Given the description of an element on the screen output the (x, y) to click on. 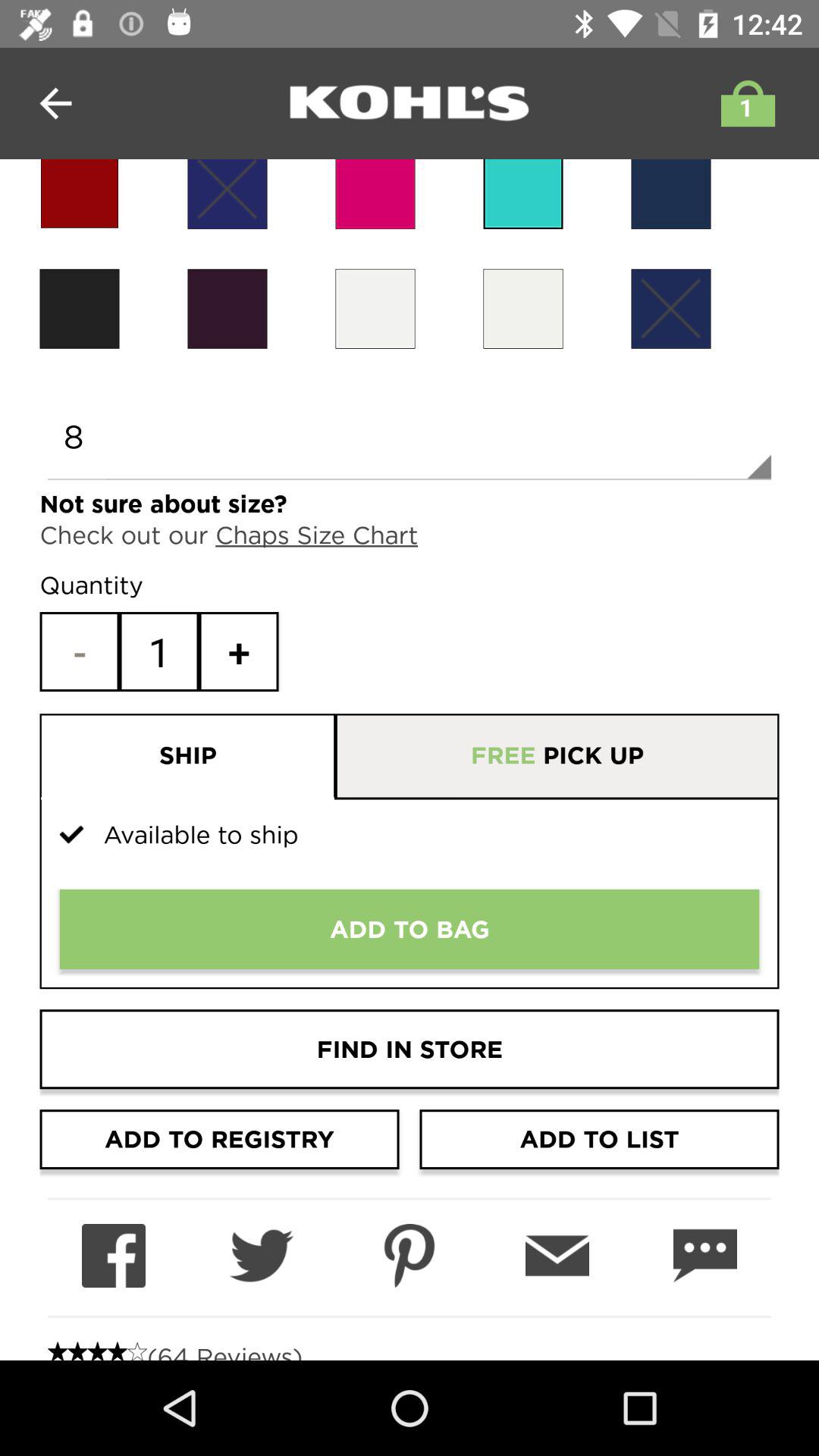
select the color (670, 308)
